Given the description of an element on the screen output the (x, y) to click on. 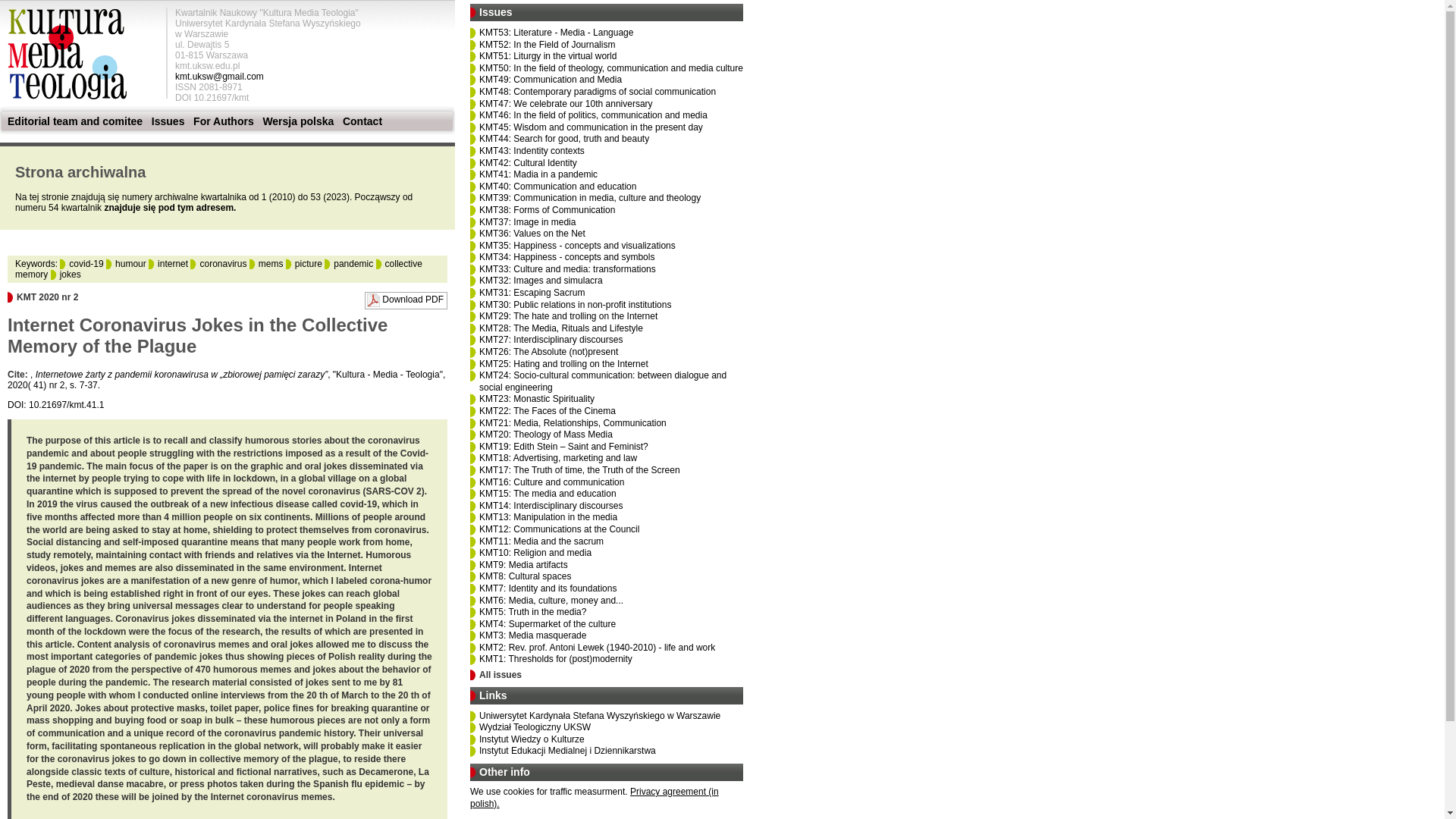
KMT38: Forms of Communication (546, 209)
KMT49: Communication and Media (550, 79)
Editorial team and comitee (74, 121)
KMT48: Contemporary paradigms of social communication (597, 91)
KMT52: In the Field of Journalism (546, 44)
KMT51: Liturgy in the virtual world (547, 55)
coronavirus (218, 263)
KMT36: Values on the Net (532, 233)
humour (126, 263)
Issues (167, 121)
KMT40: Communication and education (557, 185)
KMT42: Cultural Identity (527, 163)
KMT37: Image in media (527, 222)
KMT46: In the field of politics, communication and media (593, 114)
